Given the description of an element on the screen output the (x, y) to click on. 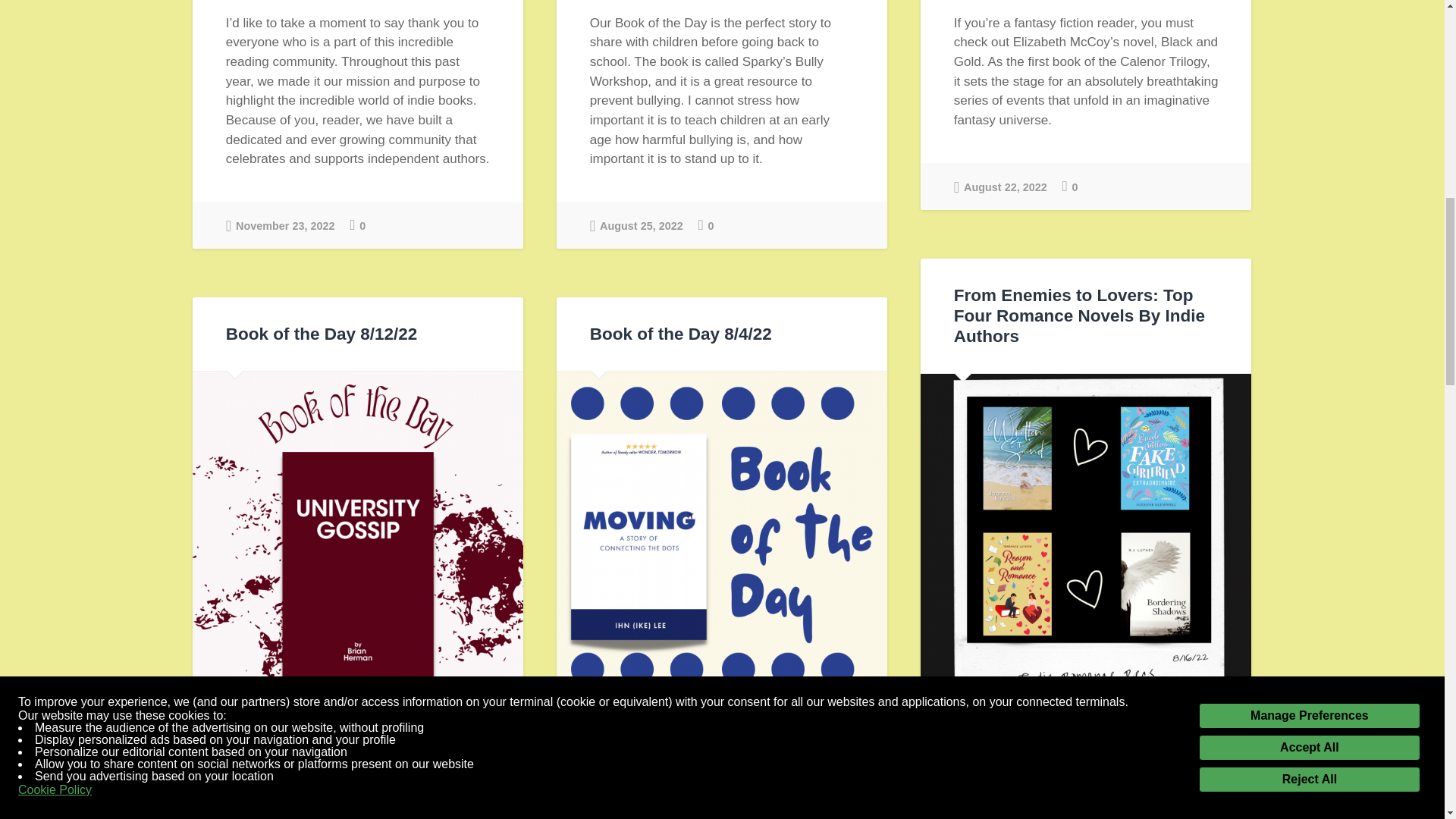
August 22, 2022 (999, 185)
0 (358, 225)
A Message of Gratitude (279, 224)
November 23, 2022 (279, 224)
0 (706, 225)
0 (1070, 186)
August 25, 2022 (635, 224)
